Given the description of an element on the screen output the (x, y) to click on. 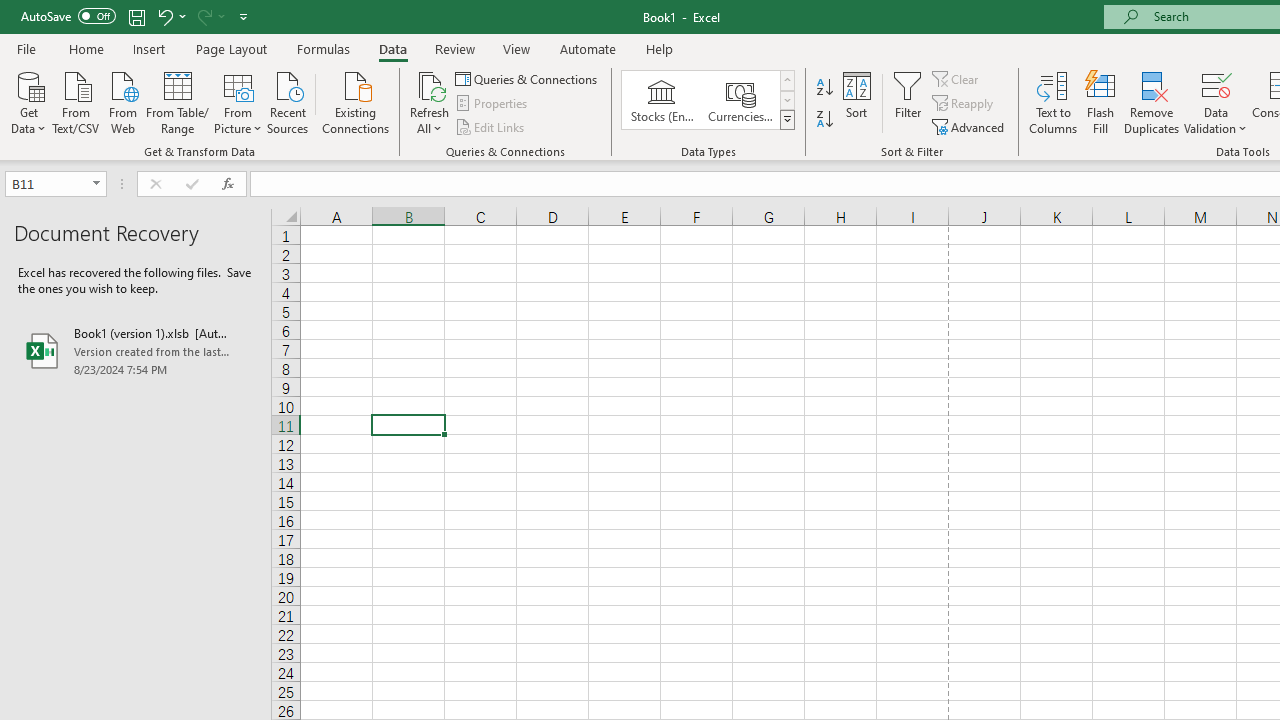
Queries & Connections (527, 78)
Flash Fill (1101, 102)
Existing Connections (355, 101)
Recent Sources (287, 101)
From Web (122, 101)
